Given the description of an element on the screen output the (x, y) to click on. 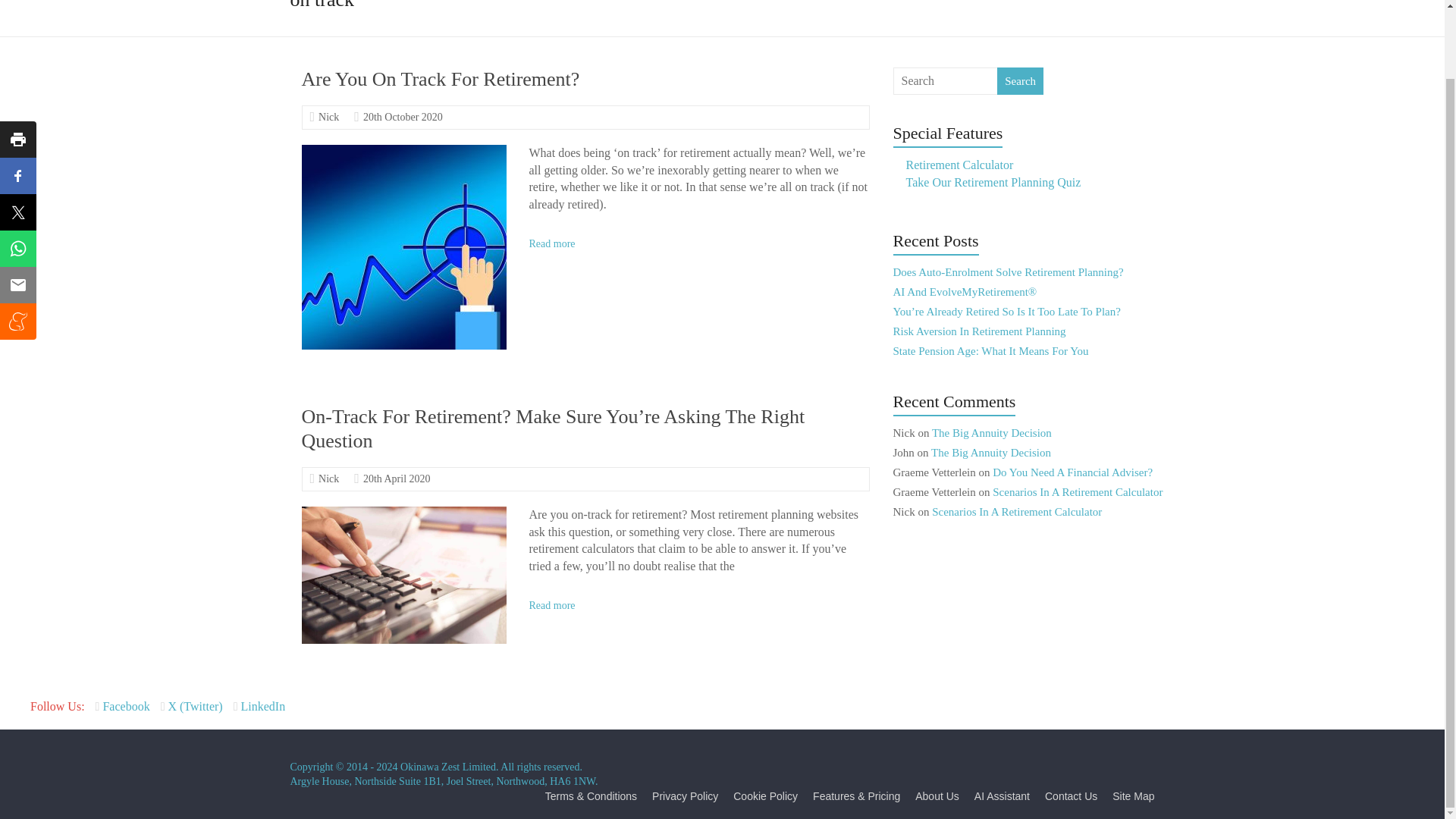
Facebook (124, 706)
20th October 2020 (402, 116)
The Big Annuity Decision (991, 432)
Scenarios In A Retirement Calculator (1016, 511)
Scenarios In A Retirement Calculator (1076, 491)
Take Our Retirement Planning Quiz (993, 182)
State Pension Age: What It Means For You (991, 350)
6:35 am (396, 478)
Does Auto-Enrolment Solve Retirement Planning? (1008, 272)
Search (1020, 81)
The Big Annuity Decision (991, 452)
Are You On Track For Retirement? (403, 151)
Retirement Calculator (959, 164)
Are You On Track For Retirement? (403, 246)
Read more (551, 604)
